Given the description of an element on the screen output the (x, y) to click on. 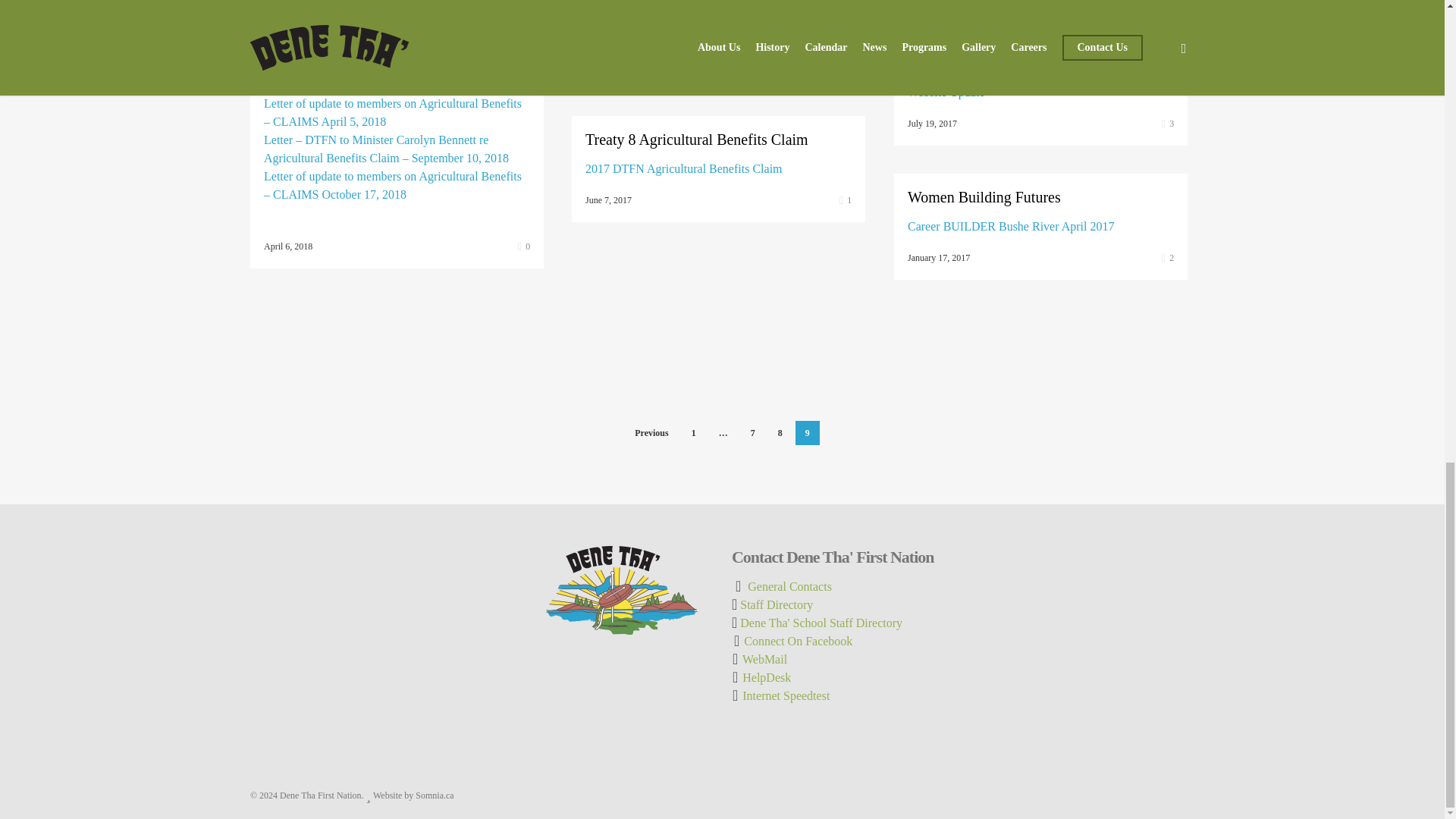
Love this (1167, 2)
Love this (845, 65)
Love this (523, 246)
0 (523, 246)
